Given the description of an element on the screen output the (x, y) to click on. 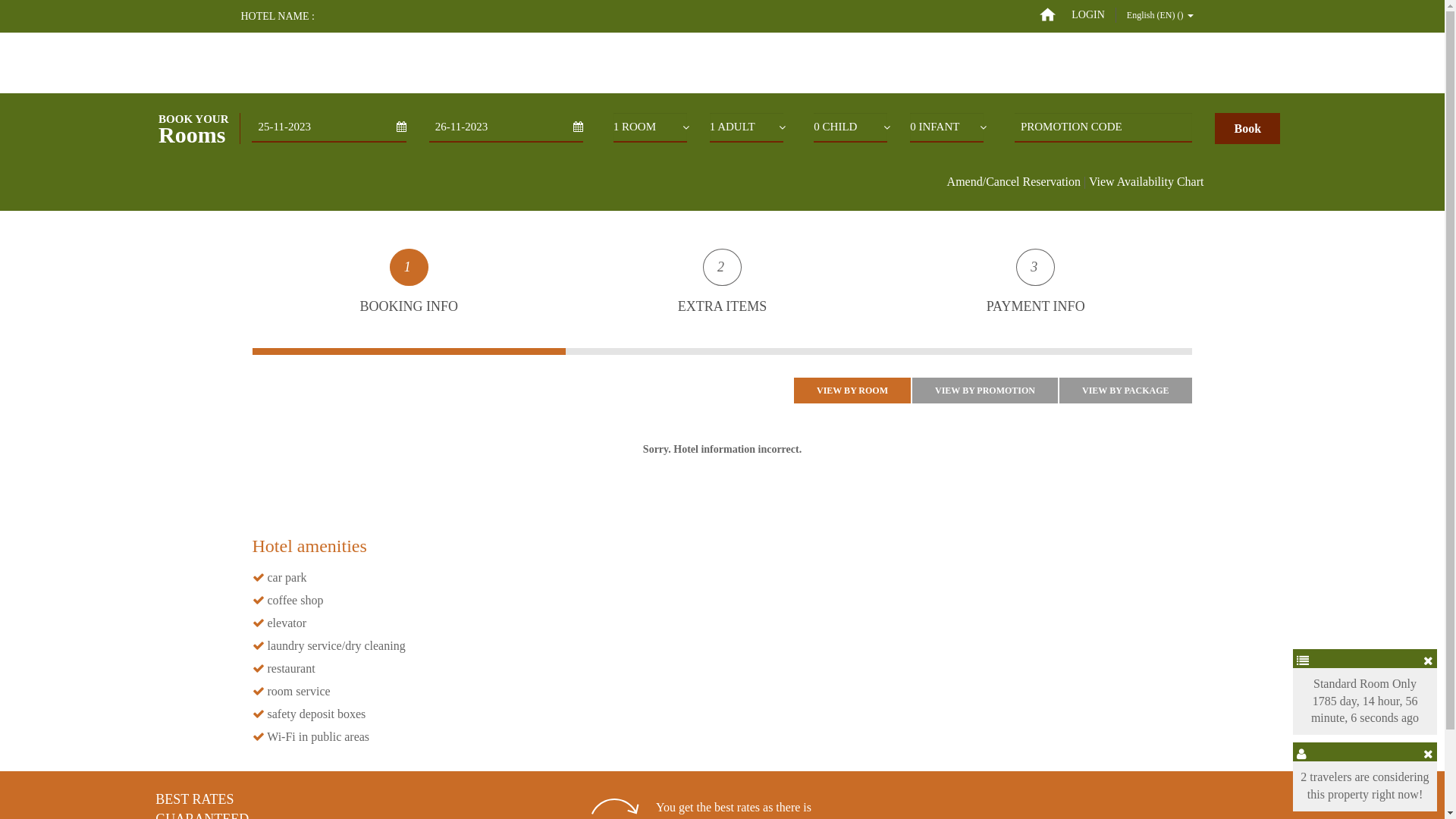
VIEW BY PROMOTION Element type: text (984, 390)
1
BOOKING INFO Element type: text (407, 297)
3
PAYMENT INFO Element type: text (1035, 297)
Book Element type: text (1247, 128)
English (EN) () Element type: text (1160, 14)
VIEW BY PACKAGE Element type: text (1125, 390)
View Availability Chart Element type: text (1146, 181)
LOGIN Element type: text (1088, 14)
VIEW BY ROOM Element type: text (852, 390)
HOTEL NAME : Element type: text (277, 15)
Amend/Cancel Reservation Element type: text (1013, 181)
2
EXTRA ITEMS Element type: text (721, 297)
